Given the description of an element on the screen output the (x, y) to click on. 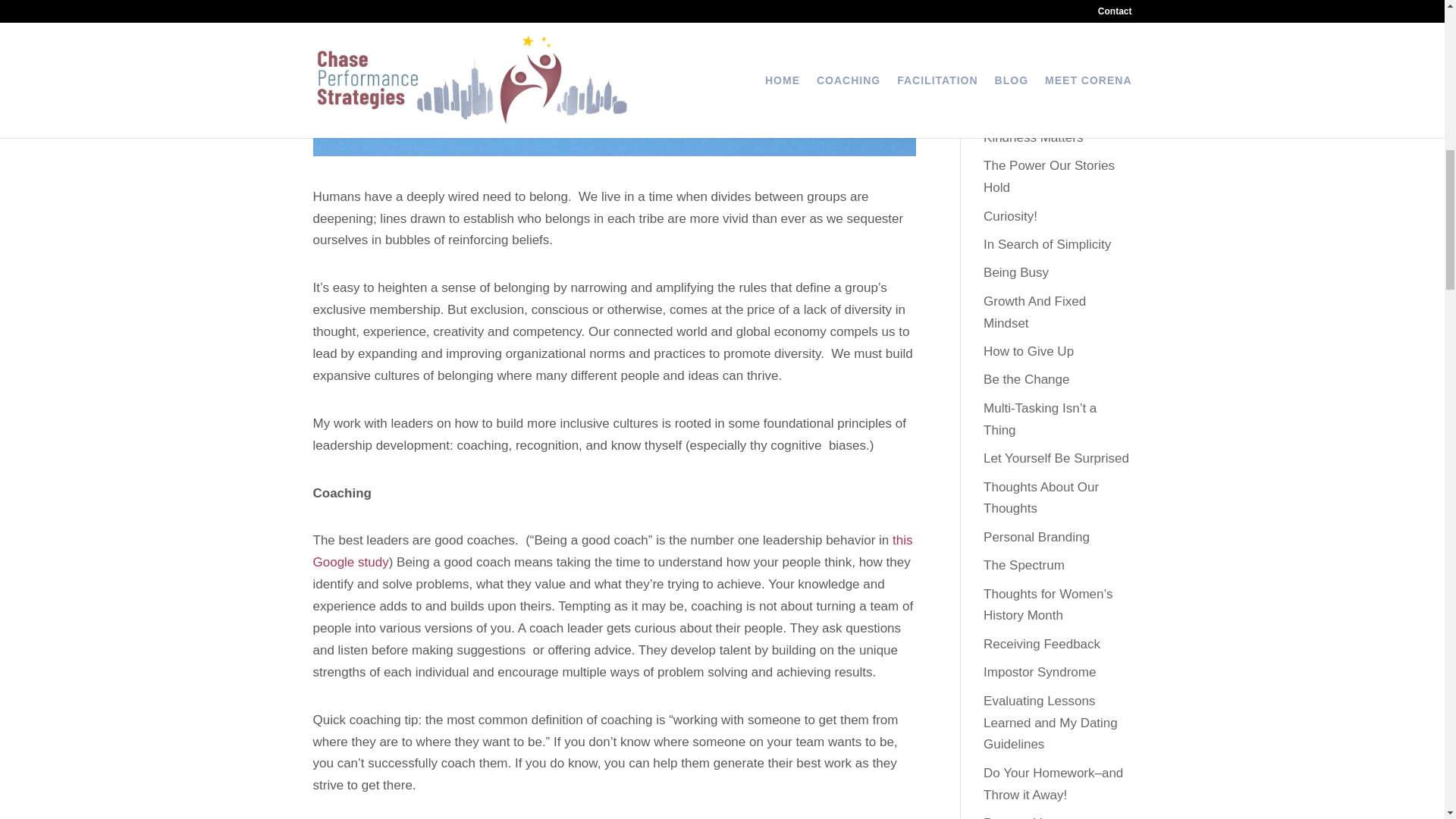
Growth And Fixed Mindset (1035, 312)
Be the Change (1026, 379)
The Power Our Stories Hold (1049, 176)
In Search of Simplicity (1047, 244)
How to Give Up (1029, 350)
Kindness Matters (1033, 137)
this Google study (612, 551)
Being Busy (1016, 272)
Who Can You Go Talk To About This? (1054, 47)
